Given the description of an element on the screen output the (x, y) to click on. 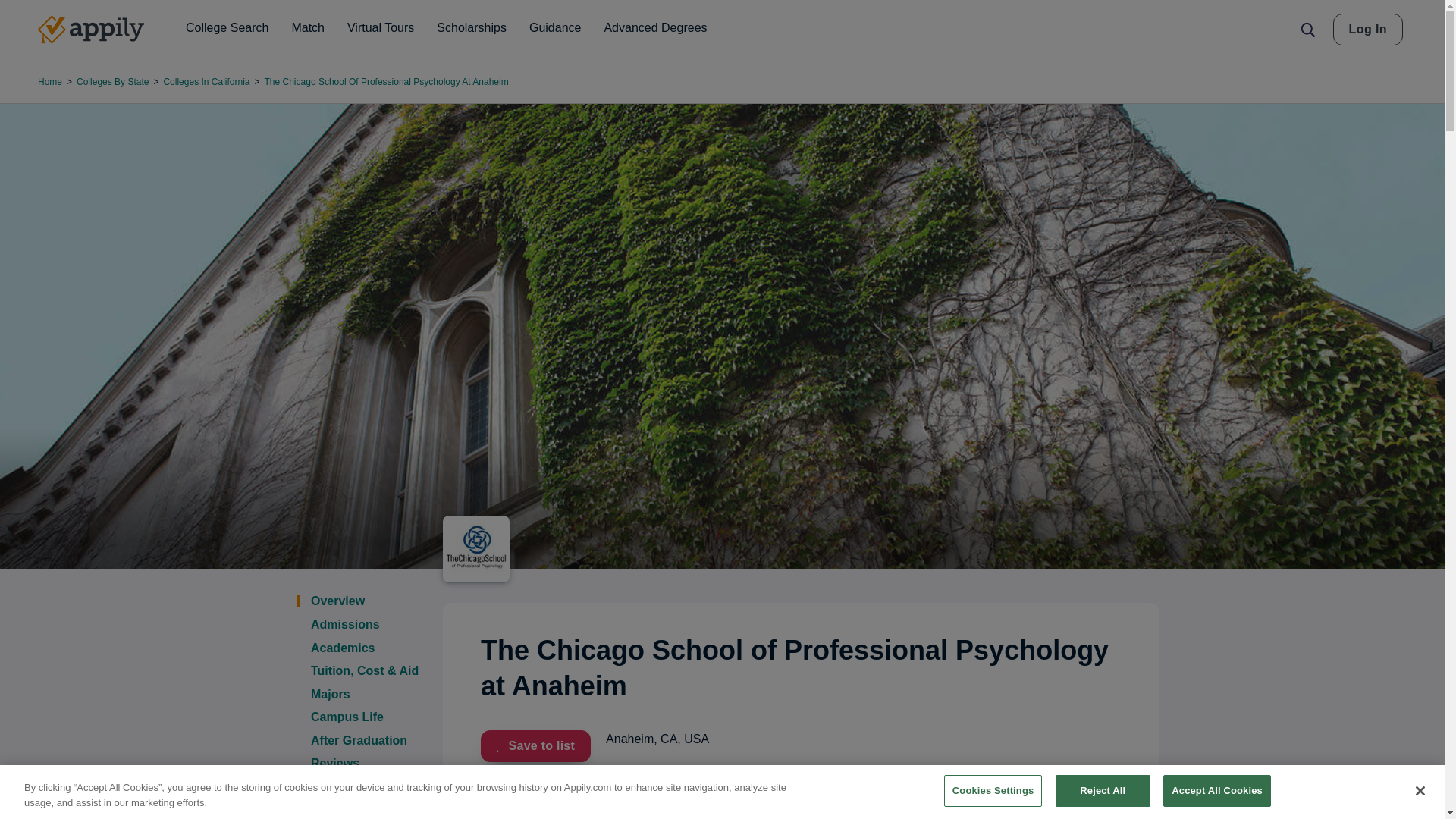
Match (307, 28)
College Search (226, 28)
Scholarships (471, 28)
Virtual Tours (380, 28)
Home (90, 29)
